Given the description of an element on the screen output the (x, y) to click on. 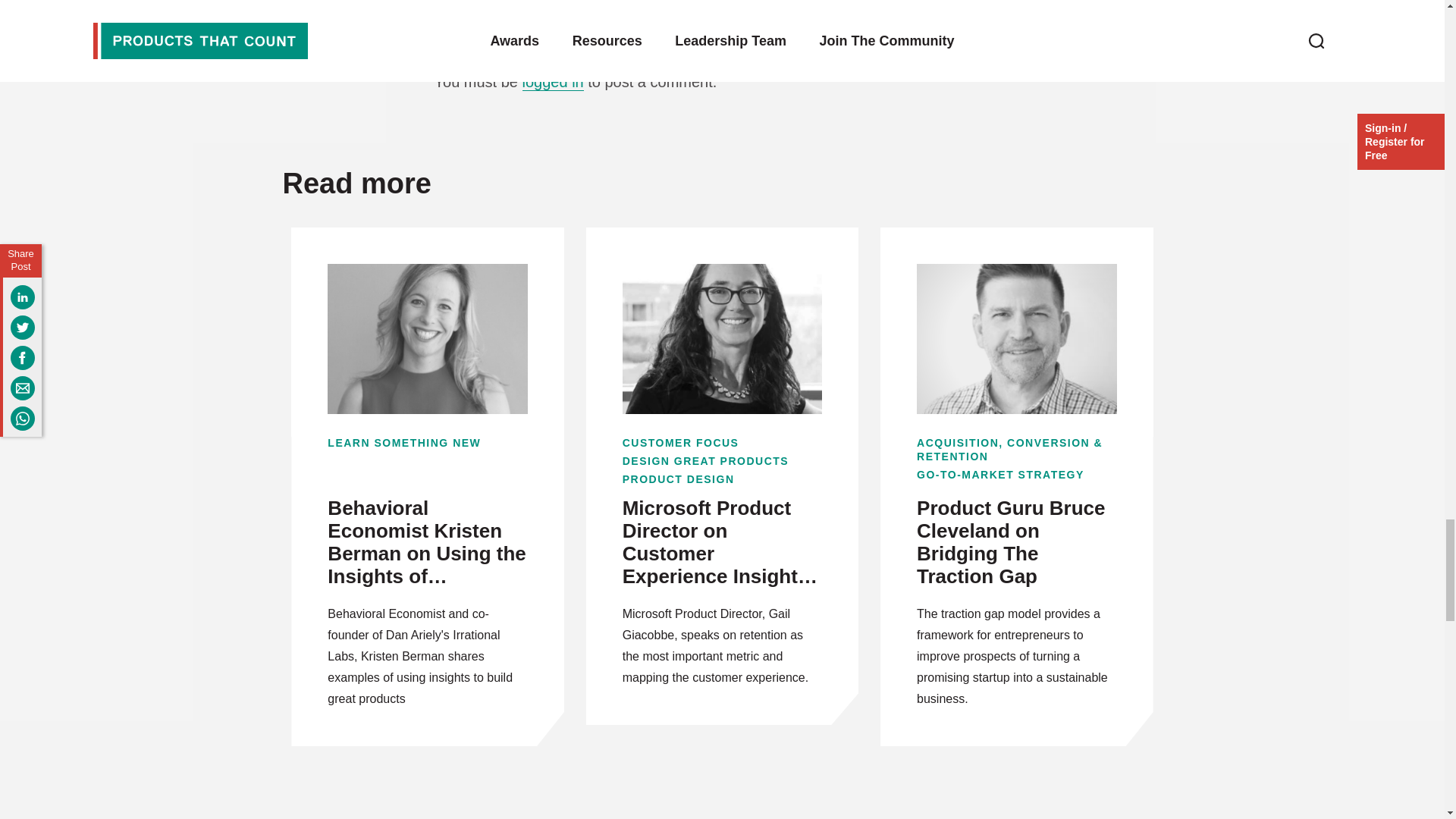
DESIGN GREAT PRODUCTS (722, 460)
LEARN SOMETHING NEW (427, 442)
GO-TO-MARKET STRATEGY (1016, 474)
logged in (552, 81)
CUSTOMER FOCUS (722, 442)
Product Guru Bruce Cleveland on Bridging The Traction Gap (1016, 542)
PRODUCT DESIGN (722, 479)
